Given the description of an element on the screen output the (x, y) to click on. 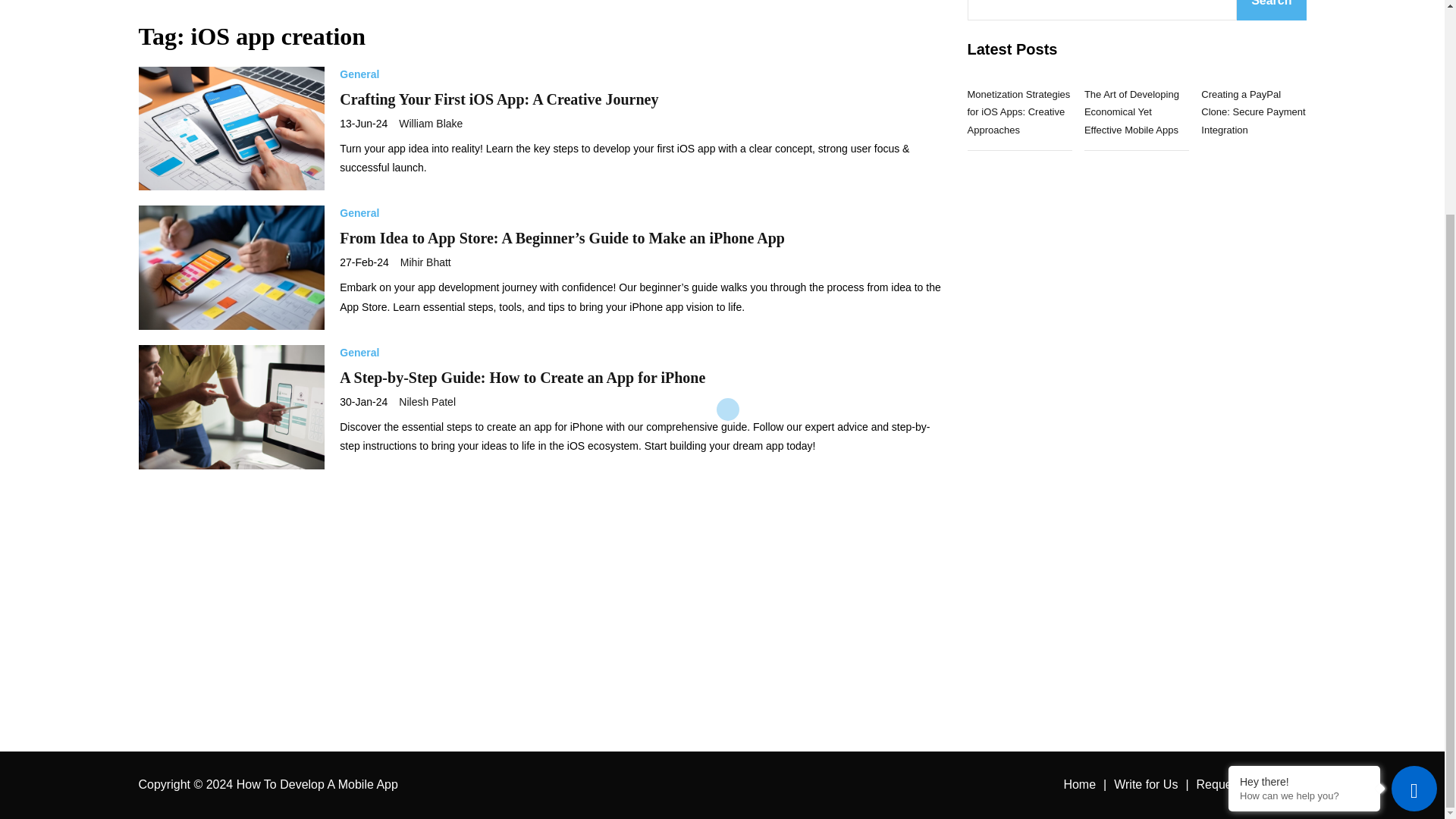
General (358, 100)
Mihir Bhatt (425, 149)
Request Free Quote (1251, 784)
General (358, 239)
Nilesh Patel (426, 288)
Monetization Strategies for iOS Apps: Creative Approaches (1019, 111)
Home (1079, 784)
How can we help you? (1304, 514)
Search (1271, 10)
Hey there! (1304, 500)
